Given the description of an element on the screen output the (x, y) to click on. 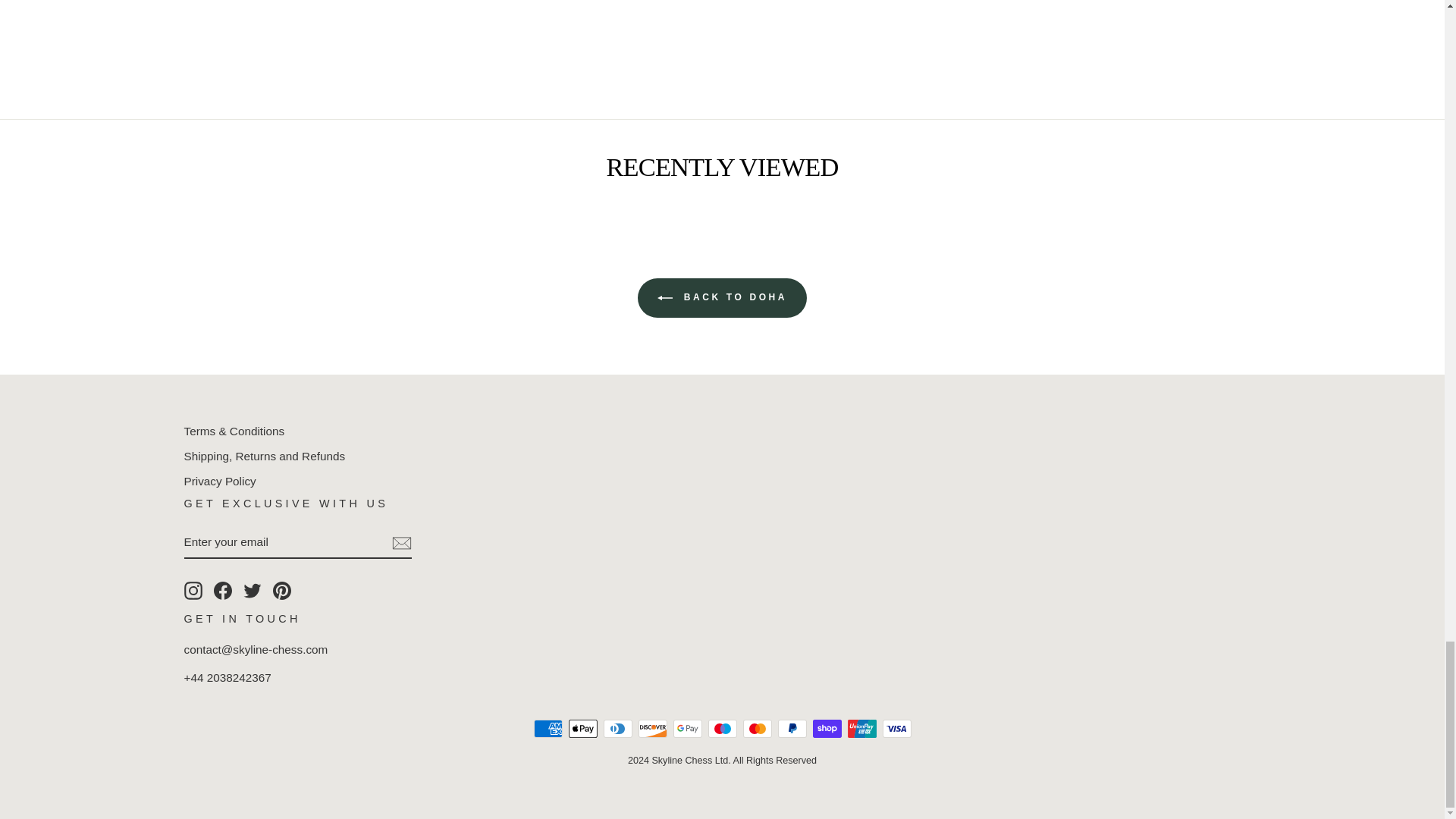
American Express (548, 728)
Skyline Chess on Instagram (192, 590)
Discover (652, 728)
Skyline Chess on Pinterest (282, 590)
Skyline Chess on Twitter (251, 590)
Diners Club (617, 728)
Google Pay (686, 728)
Skyline Chess on Facebook (222, 590)
Apple Pay (582, 728)
